Given the description of an element on the screen output the (x, y) to click on. 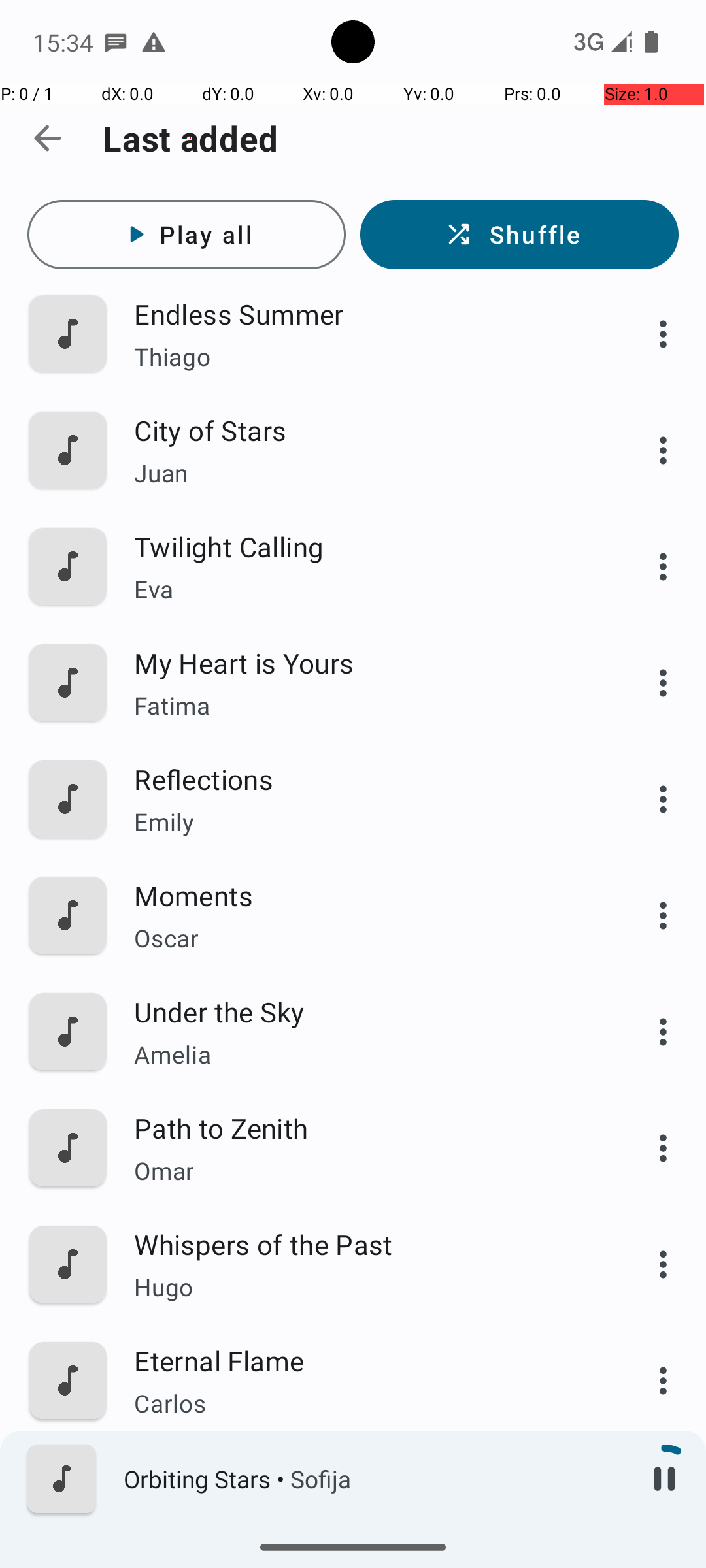
Orbiting Stars • Sofija Element type: android.widget.TextView (372, 1478)
Play all Element type: android.widget.Button (186, 234)
Endless Summer Element type: android.widget.TextView (363, 313)
Thiago Element type: android.widget.TextView (363, 356)
City of Stars Element type: android.widget.TextView (363, 429)
Juan Element type: android.widget.TextView (363, 472)
Twilight Calling Element type: android.widget.TextView (363, 546)
Eva Element type: android.widget.TextView (363, 588)
My Heart is Yours Element type: android.widget.TextView (363, 662)
Fatima Element type: android.widget.TextView (363, 704)
Reflections Element type: android.widget.TextView (363, 778)
Emily Element type: android.widget.TextView (363, 821)
Moments Element type: android.widget.TextView (363, 895)
Oscar Element type: android.widget.TextView (363, 937)
Under the Sky Element type: android.widget.TextView (363, 1011)
Amelia Element type: android.widget.TextView (363, 1053)
Path to Zenith Element type: android.widget.TextView (363, 1127)
Omar Element type: android.widget.TextView (363, 1170)
Whispers of the Past Element type: android.widget.TextView (363, 1243)
Hugo Element type: android.widget.TextView (363, 1286)
Eternal Flame Element type: android.widget.TextView (363, 1360)
Carlos Element type: android.widget.TextView (363, 1402)
Through the Storm Element type: android.widget.TextView (363, 1476)
Mohammad Element type: android.widget.TextView (363, 1518)
